Given the description of an element on the screen output the (x, y) to click on. 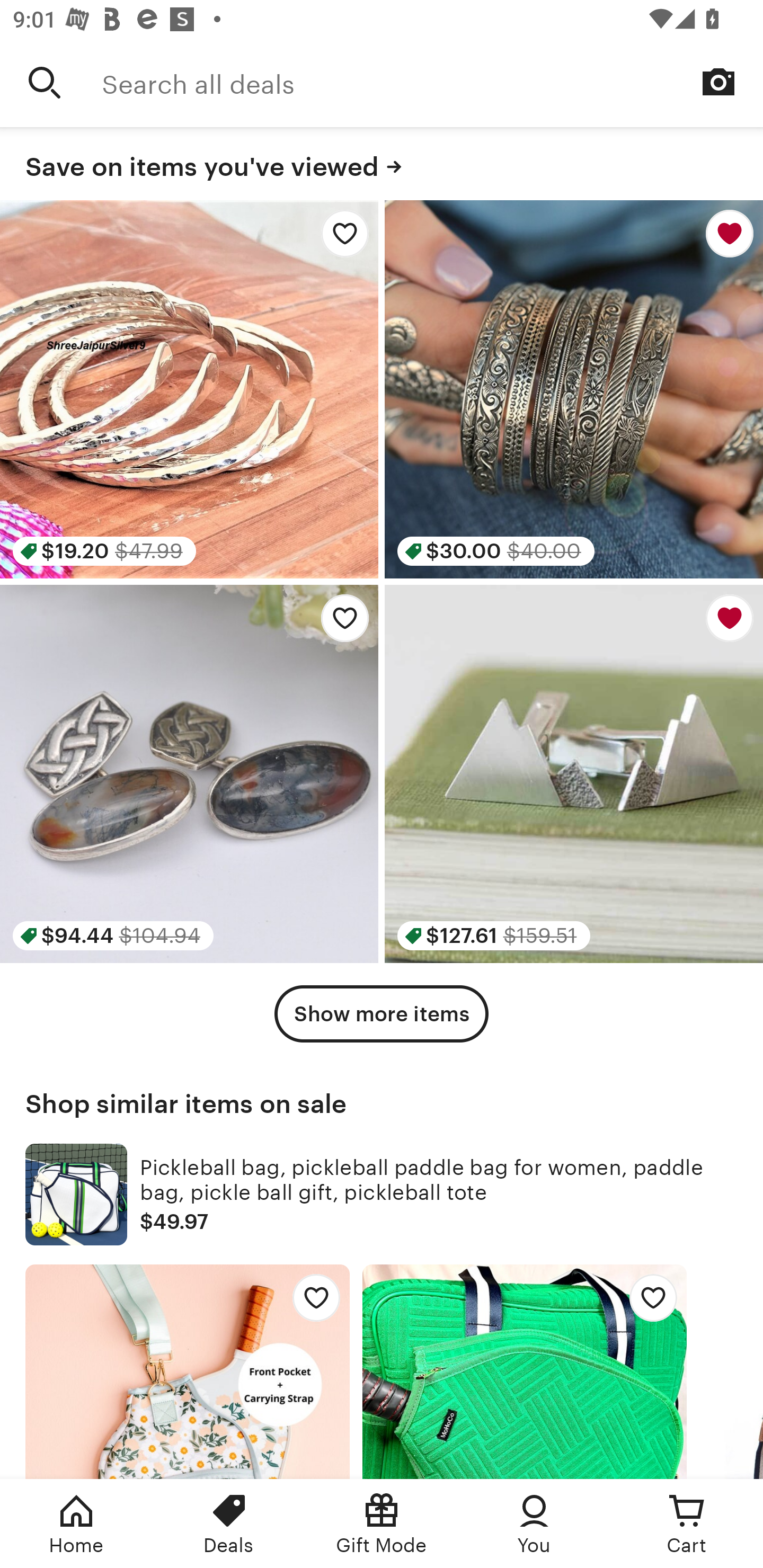
Search for anything on Etsy (44, 82)
Search by image (718, 81)
Search all deals (432, 82)
Save on items you've viewed (381, 164)
Show more items (381, 1013)
Home (76, 1523)
Gift Mode (381, 1523)
You (533, 1523)
Cart (686, 1523)
